Given the description of an element on the screen output the (x, y) to click on. 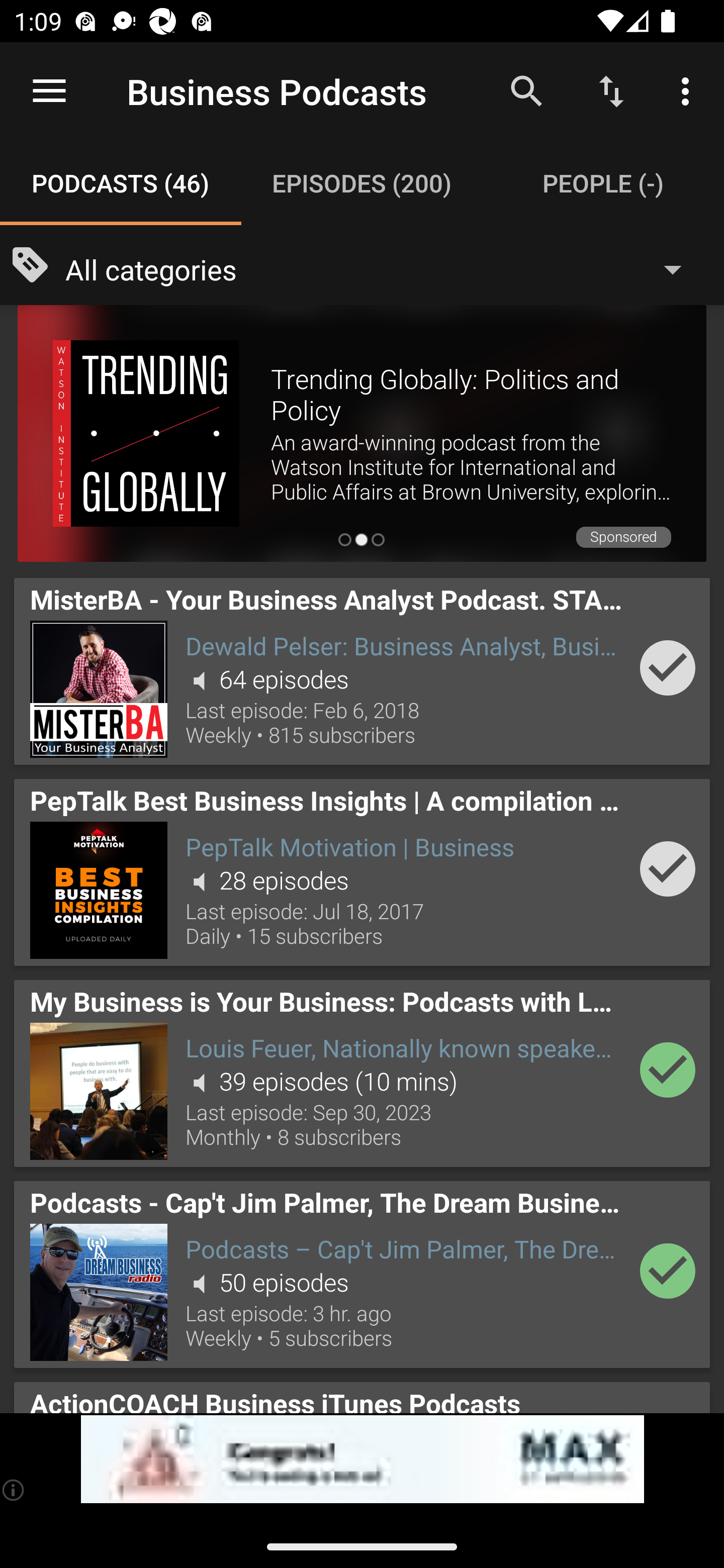
Open navigation sidebar (49, 91)
Search (526, 90)
Sort (611, 90)
More options (688, 90)
Episodes (200) EPISODES (200) (361, 183)
People (-) PEOPLE (-) (603, 183)
All categories (383, 268)
Add (667, 667)
Add (667, 868)
Add (667, 1069)
Add (667, 1271)
app-monetization (362, 1459)
(i) (14, 1489)
